Given the description of an element on the screen output the (x, y) to click on. 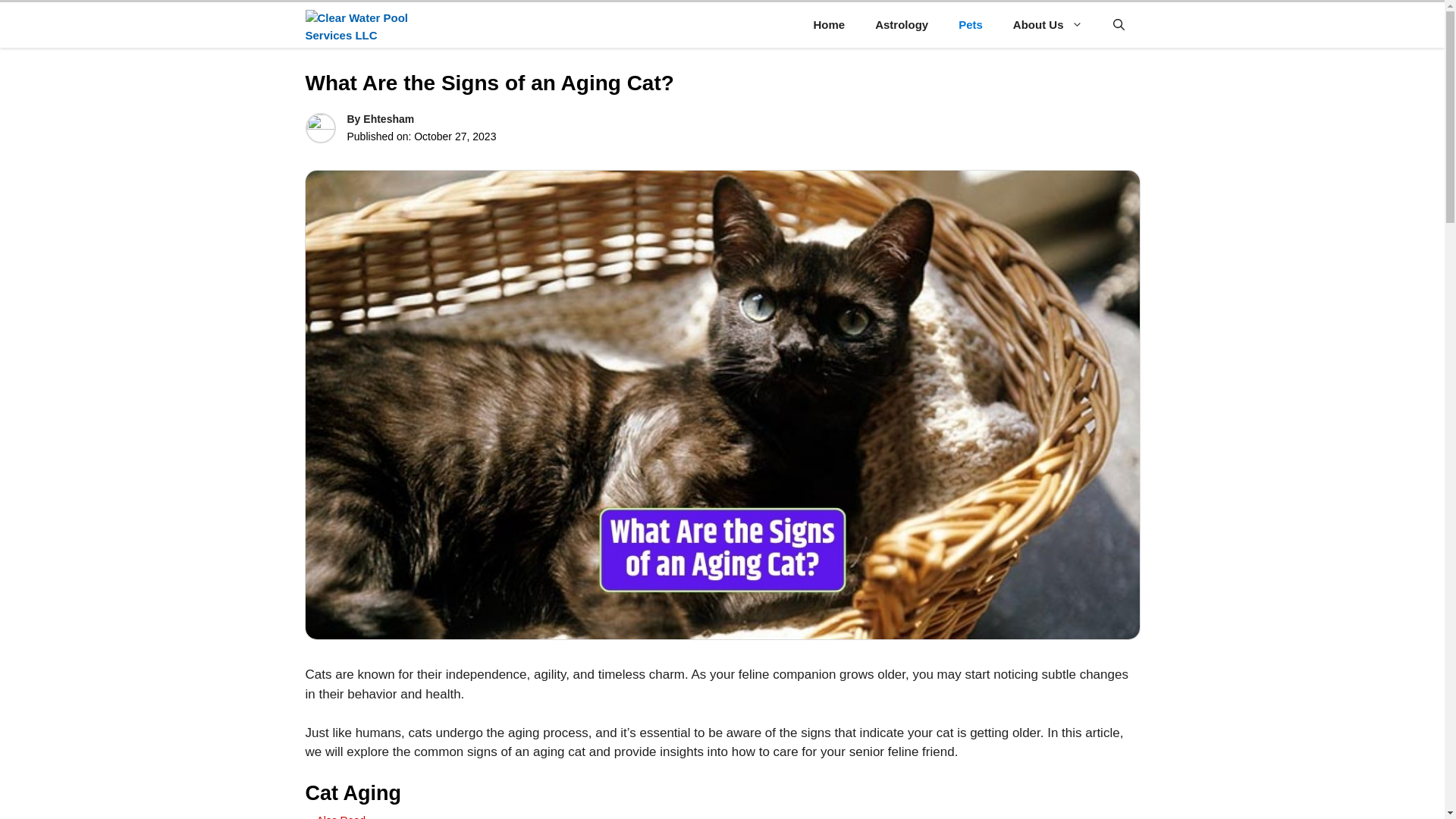
Home (828, 24)
Ehtesham (387, 119)
Pets (970, 24)
About Us (1047, 24)
Astrology (901, 24)
Clear Water Pool Services LLC (356, 24)
